Given the description of an element on the screen output the (x, y) to click on. 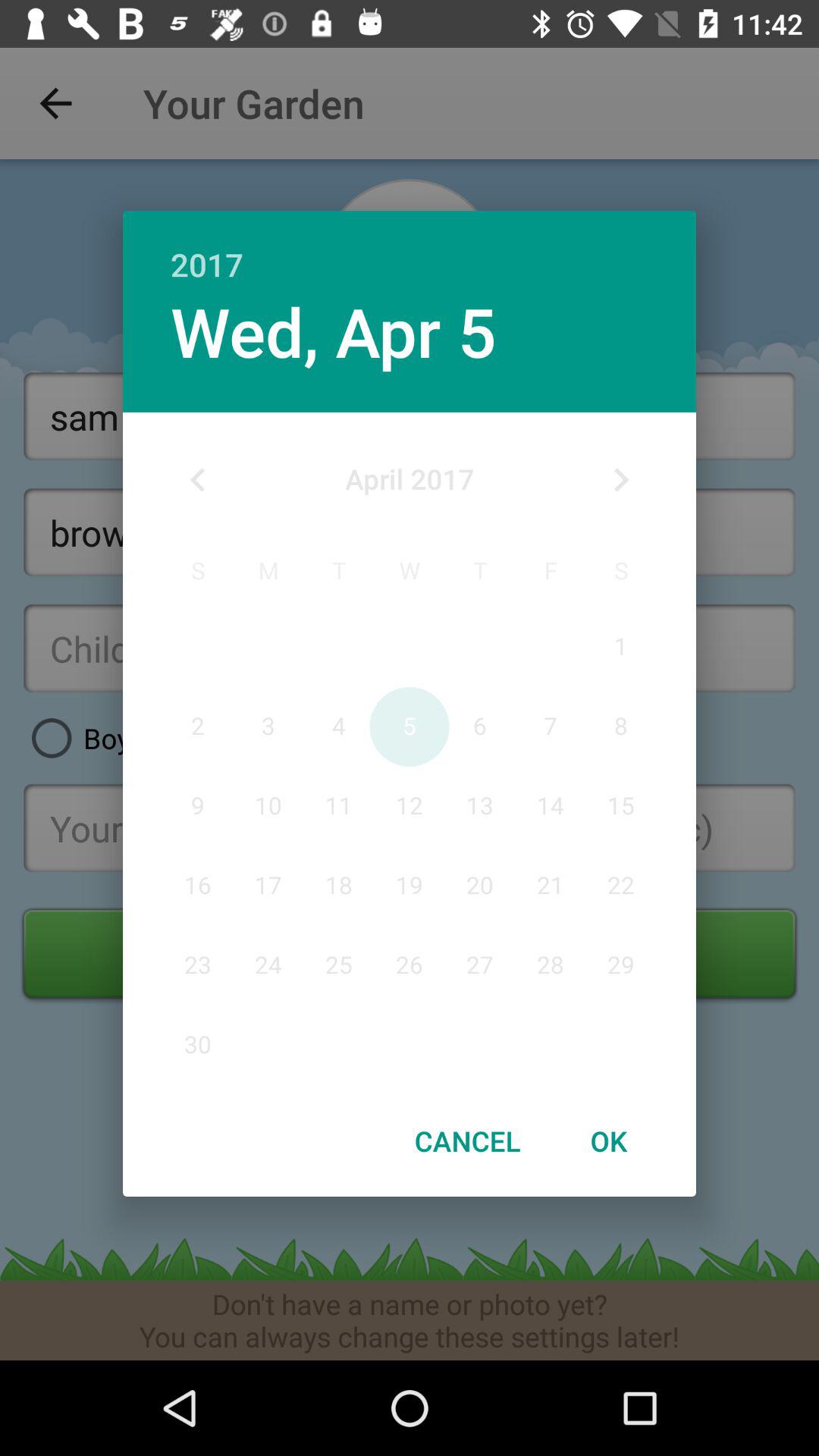
turn off icon at the top right corner (620, 479)
